Given the description of an element on the screen output the (x, y) to click on. 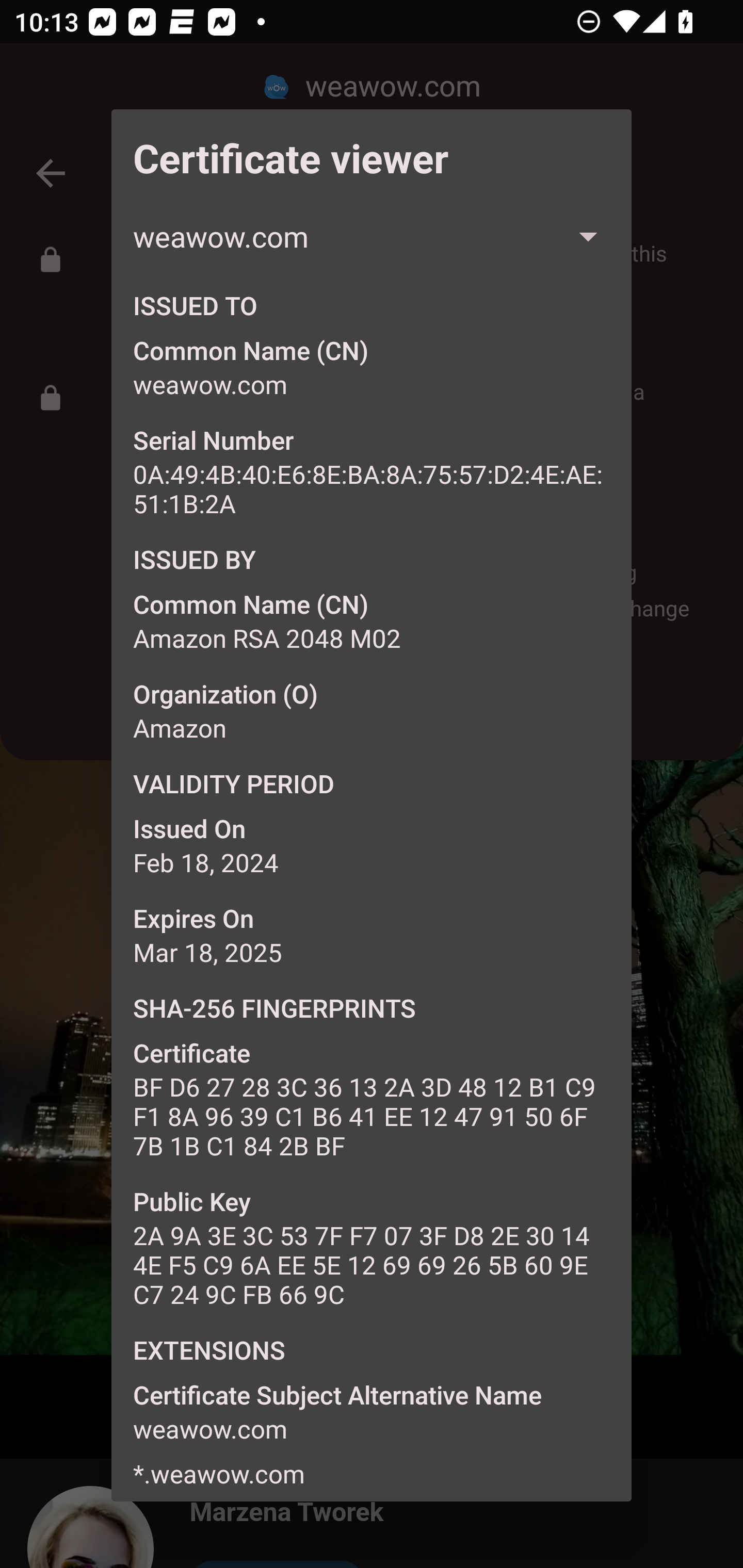
weawow.com (371, 235)
